Given the description of an element on the screen output the (x, y) to click on. 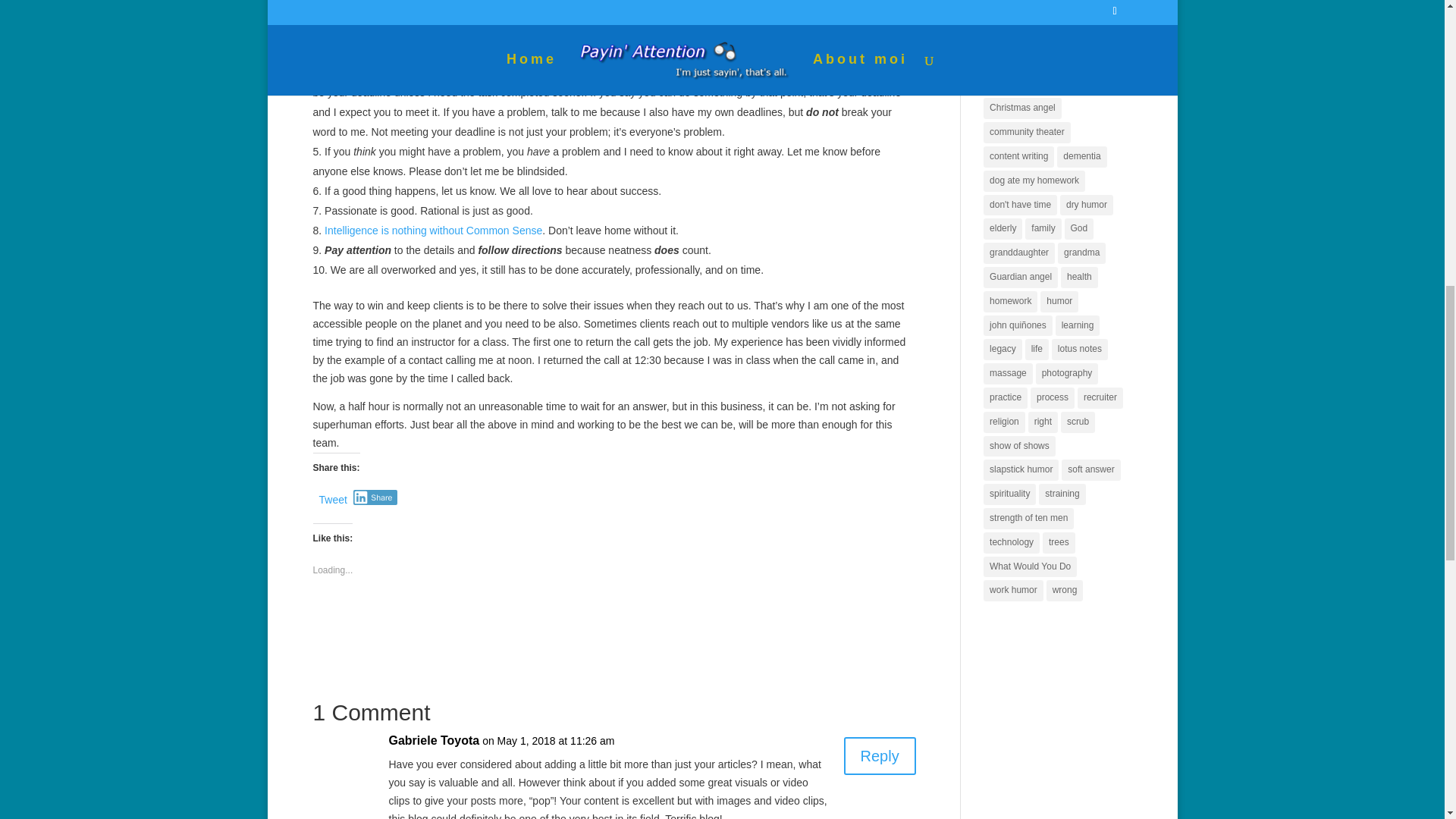
community theater (1027, 132)
career (1003, 84)
dementia (1081, 156)
Christmas (1051, 84)
angel (1000, 60)
Like or Reblog (614, 623)
Reply (879, 755)
content writing (1019, 156)
big bang (1043, 60)
Tweet (332, 496)
